Given the description of an element on the screen output the (x, y) to click on. 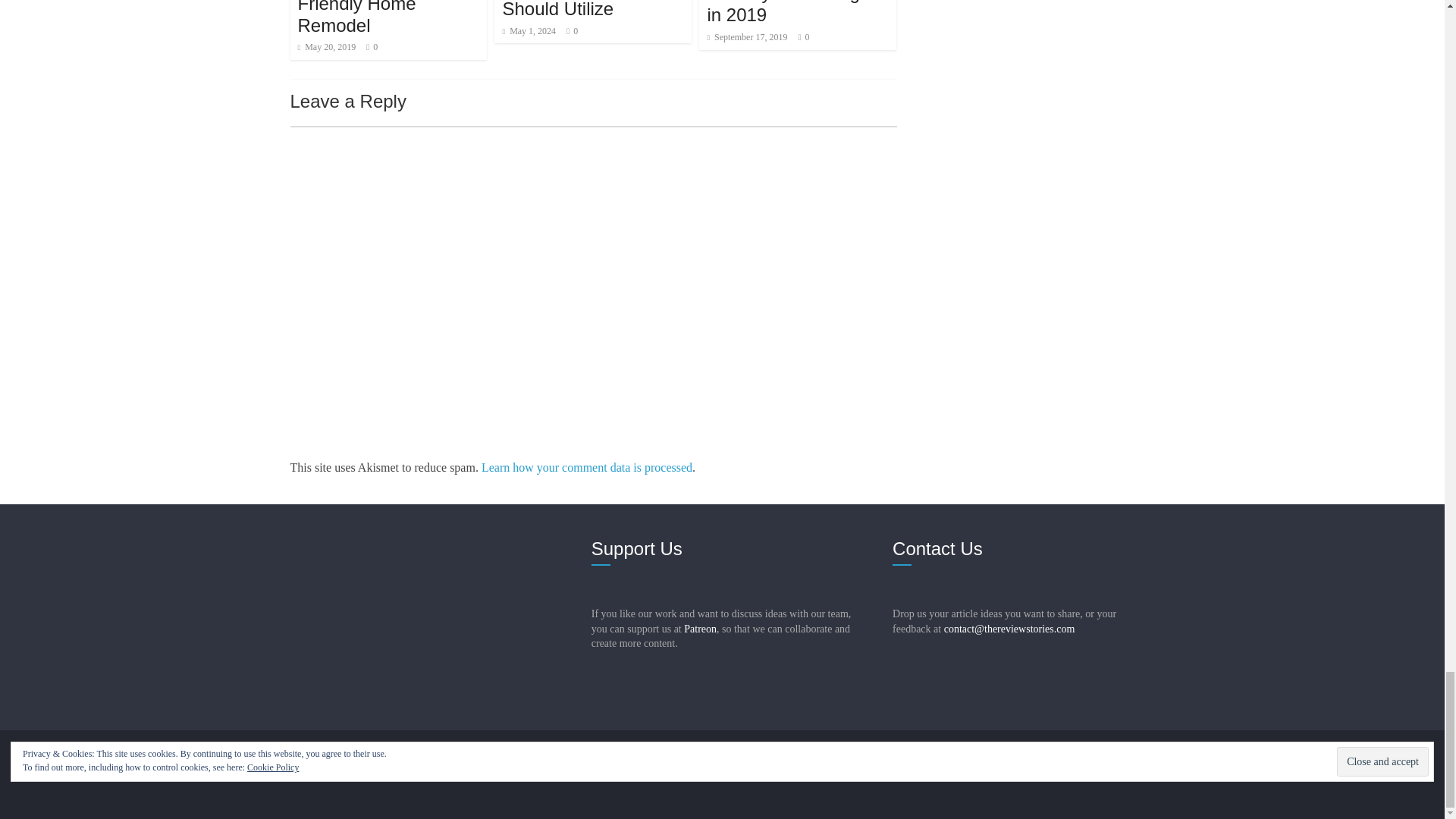
Keys to an Eco-Friendly Home Remodel (361, 18)
9:55 pm (326, 46)
